Given the description of an element on the screen output the (x, y) to click on. 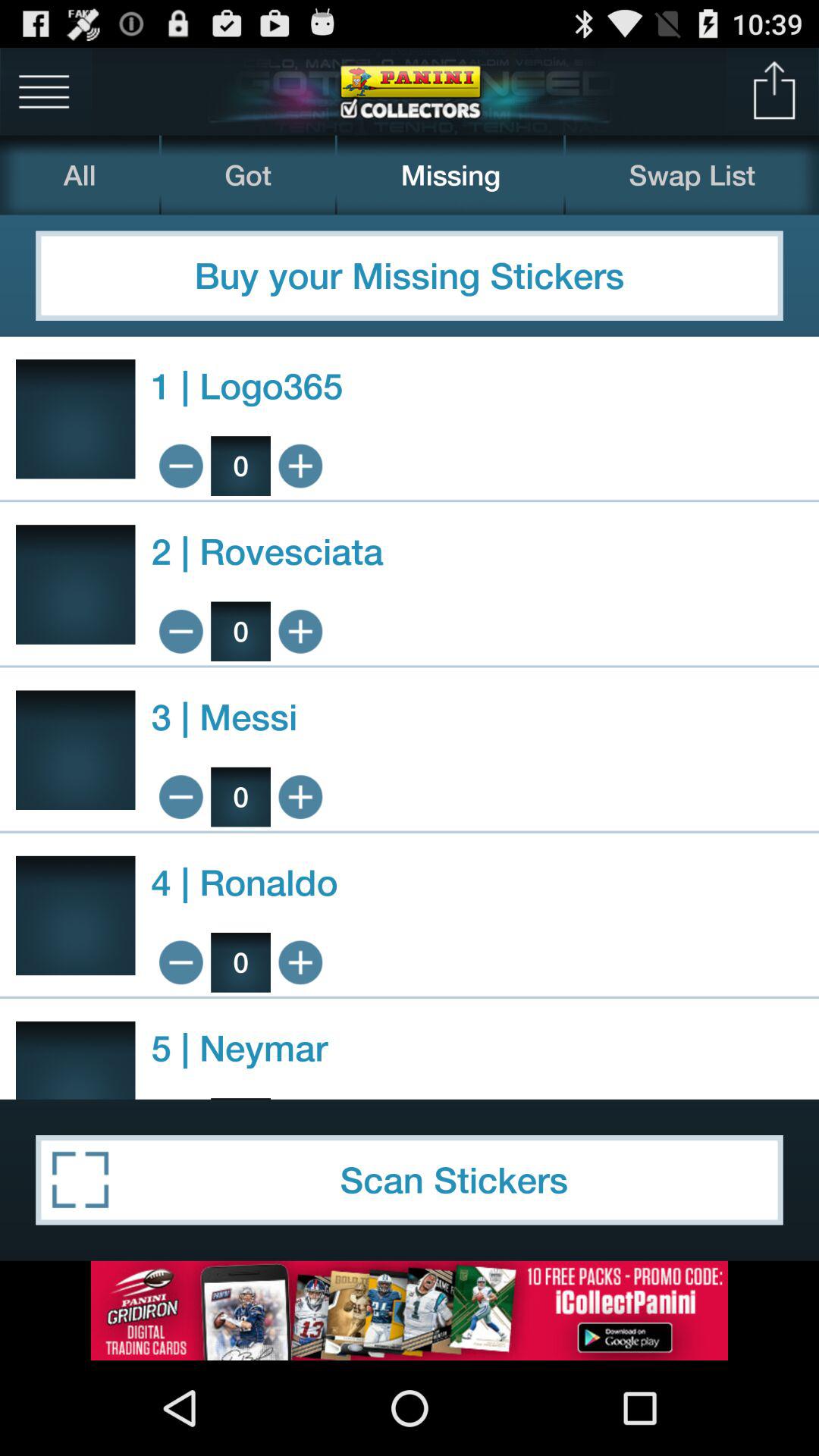
toggle decrease button (181, 631)
